Given the description of an element on the screen output the (x, y) to click on. 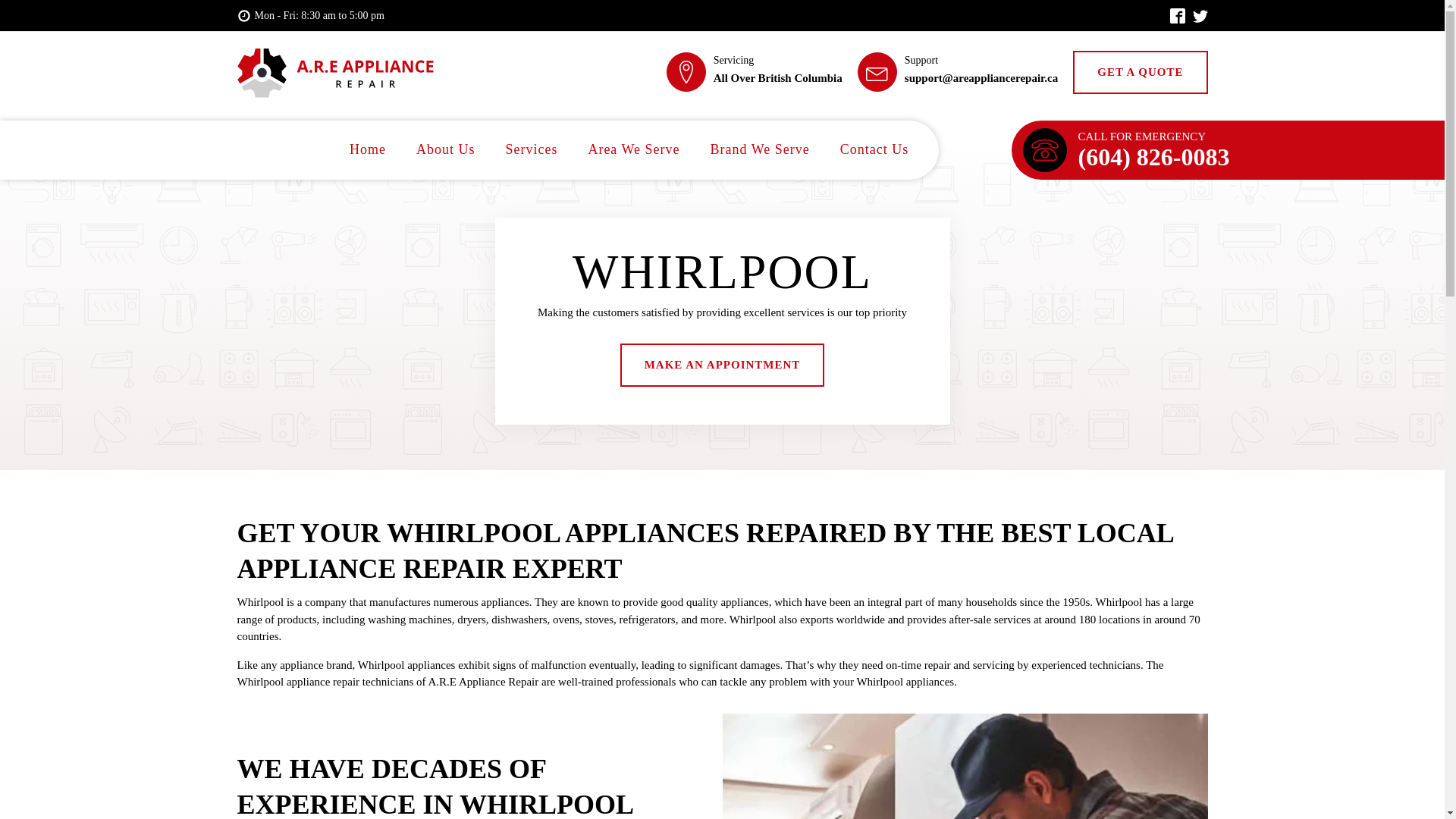
Contact Us Element type: text (874, 149)
GET A QUOTE Element type: text (1140, 72)
Home Element type: text (367, 149)
Services Element type: text (530, 149)
Area We Serve Element type: text (633, 149)
(604) 826-0083 Element type: text (1154, 156)
Brand We Serve Element type: text (760, 149)
About Us Element type: text (445, 149)
MAKE AN APPOINTMENT Element type: text (722, 364)
